Given the description of an element on the screen output the (x, y) to click on. 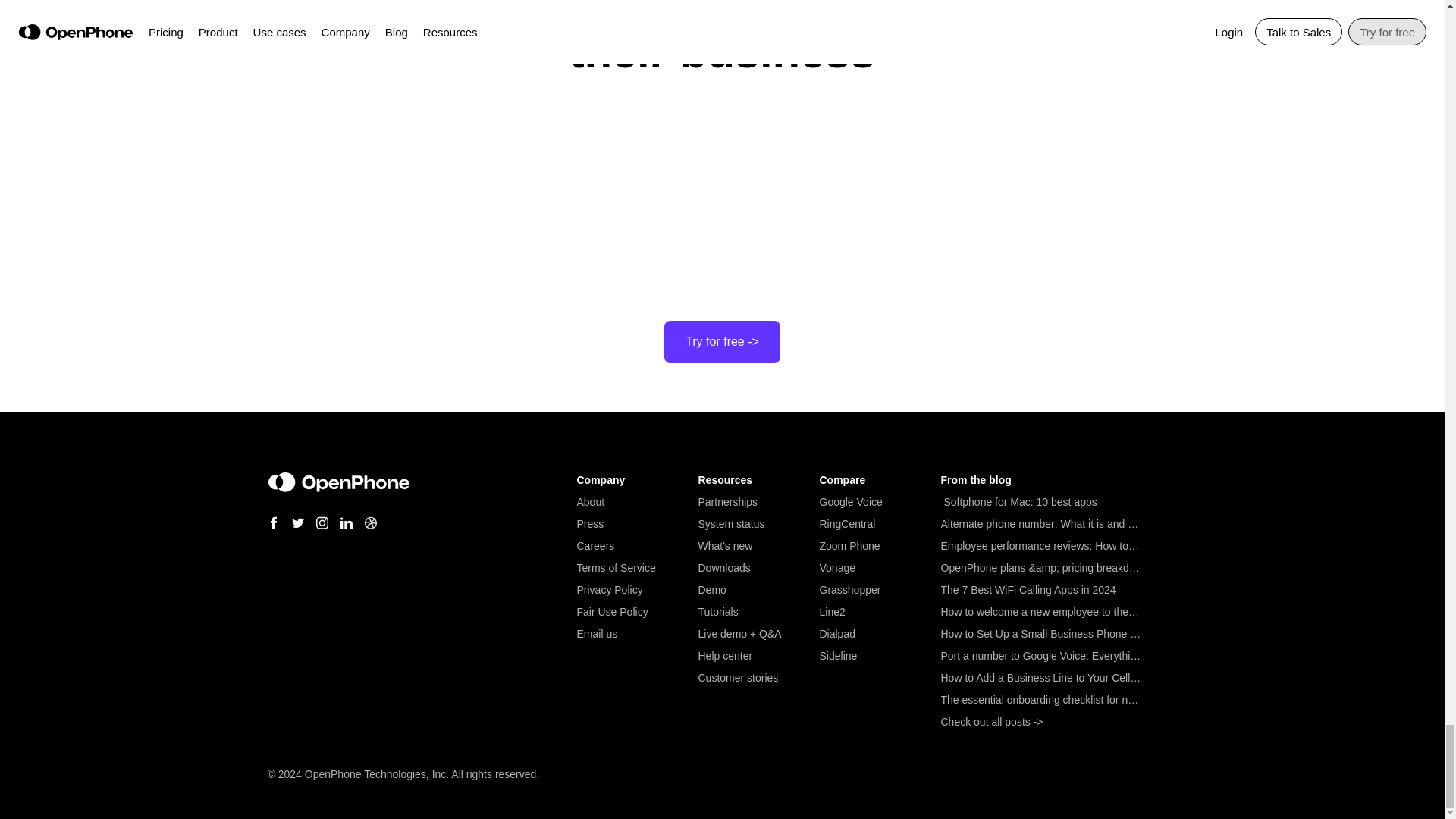
LinkedIn (345, 522)
Twitter (296, 522)
Dribbble (369, 522)
Instagram (321, 522)
Facebook (272, 522)
